Given the description of an element on the screen output the (x, y) to click on. 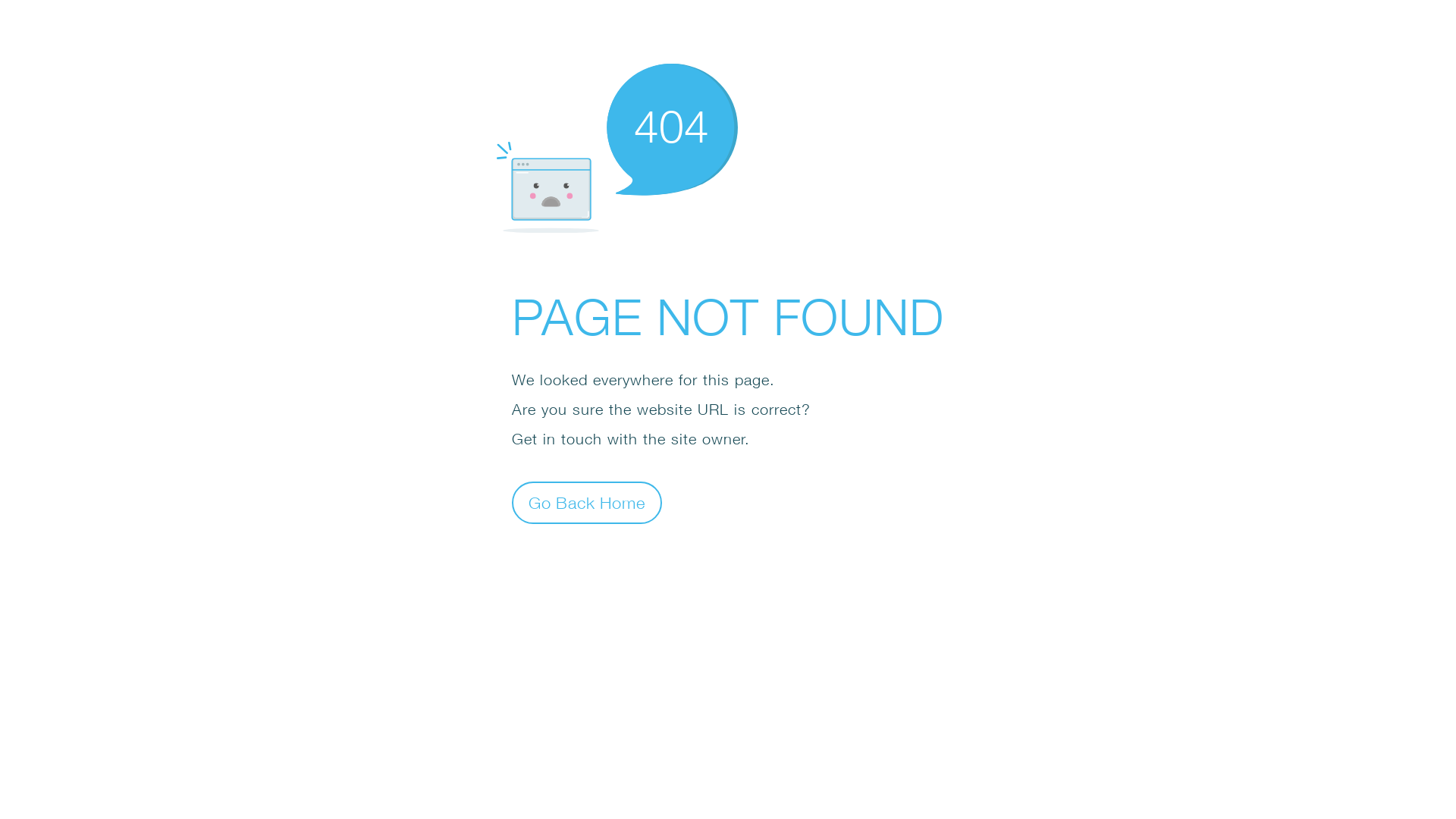
Go Back Home Element type: text (586, 502)
